Given the description of an element on the screen output the (x, y) to click on. 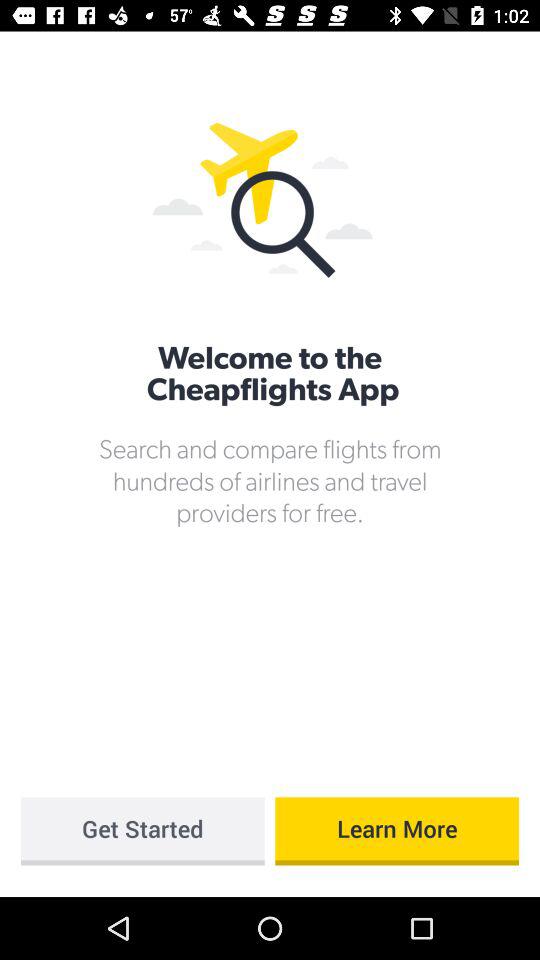
swipe until the learn more icon (397, 831)
